Given the description of an element on the screen output the (x, y) to click on. 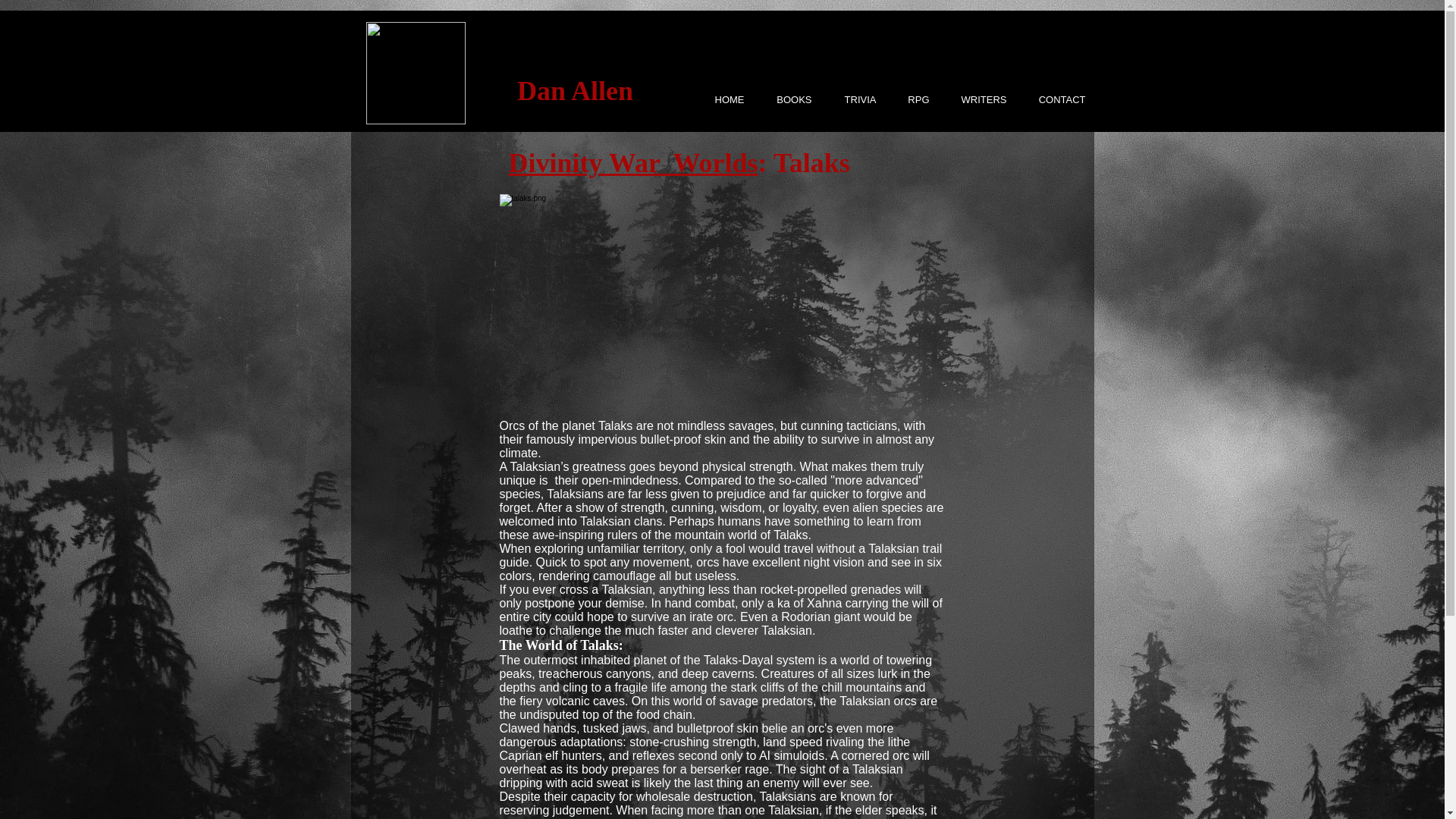
BOOKS (785, 99)
Divinity War  Worlds (632, 163)
TRIVIA (853, 99)
Dan Allen (574, 91)
HOME (721, 99)
WRITERS (975, 99)
RPG (910, 99)
Dan AllenA.jpg (414, 73)
CONTACT (1053, 99)
